Given the description of an element on the screen output the (x, y) to click on. 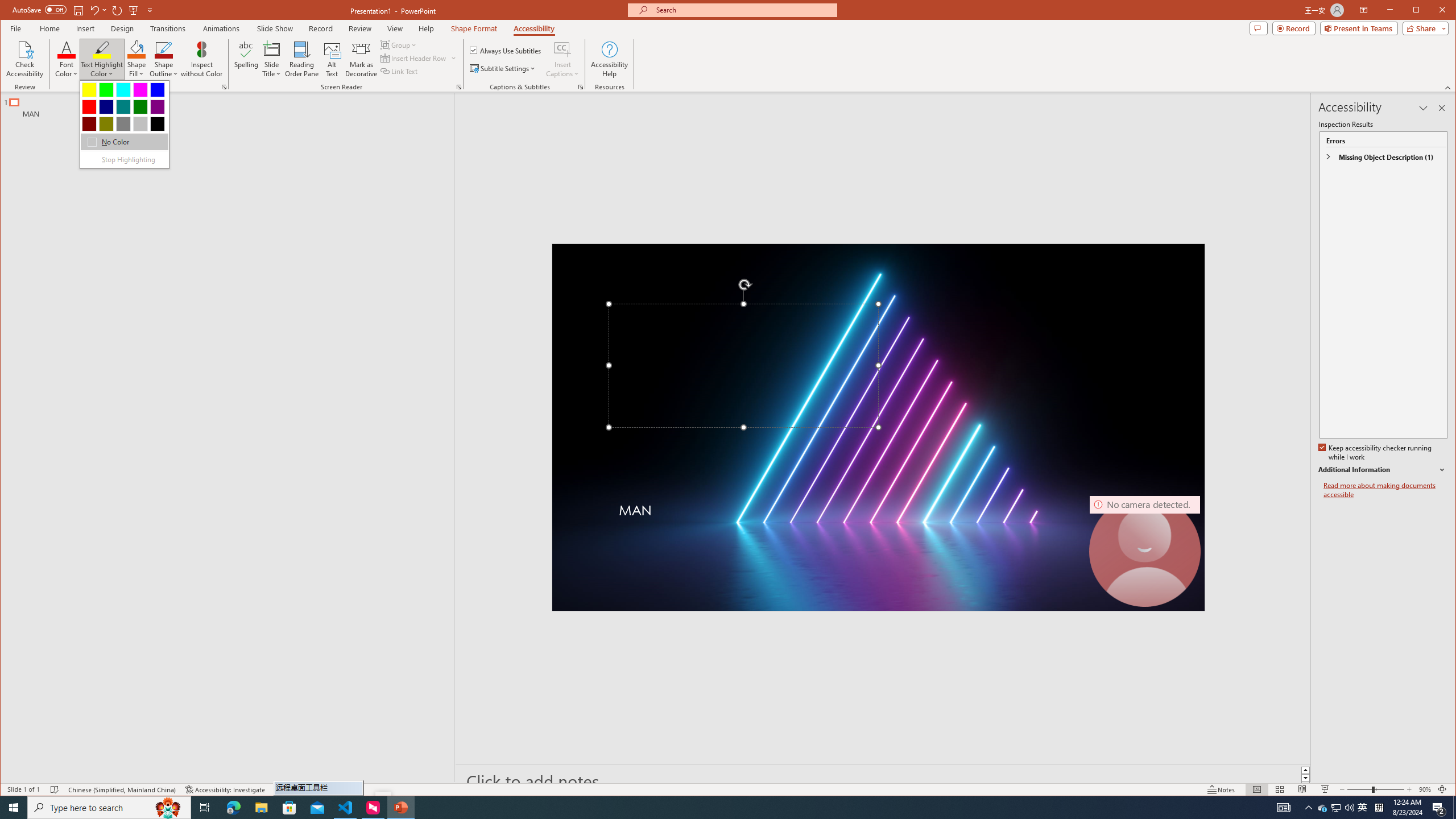
Group (399, 44)
Subtitle TextBox (850, 522)
Zoom 90% (1424, 789)
Title TextBox (742, 365)
Additional Information (1382, 469)
